Given the description of an element on the screen output the (x, y) to click on. 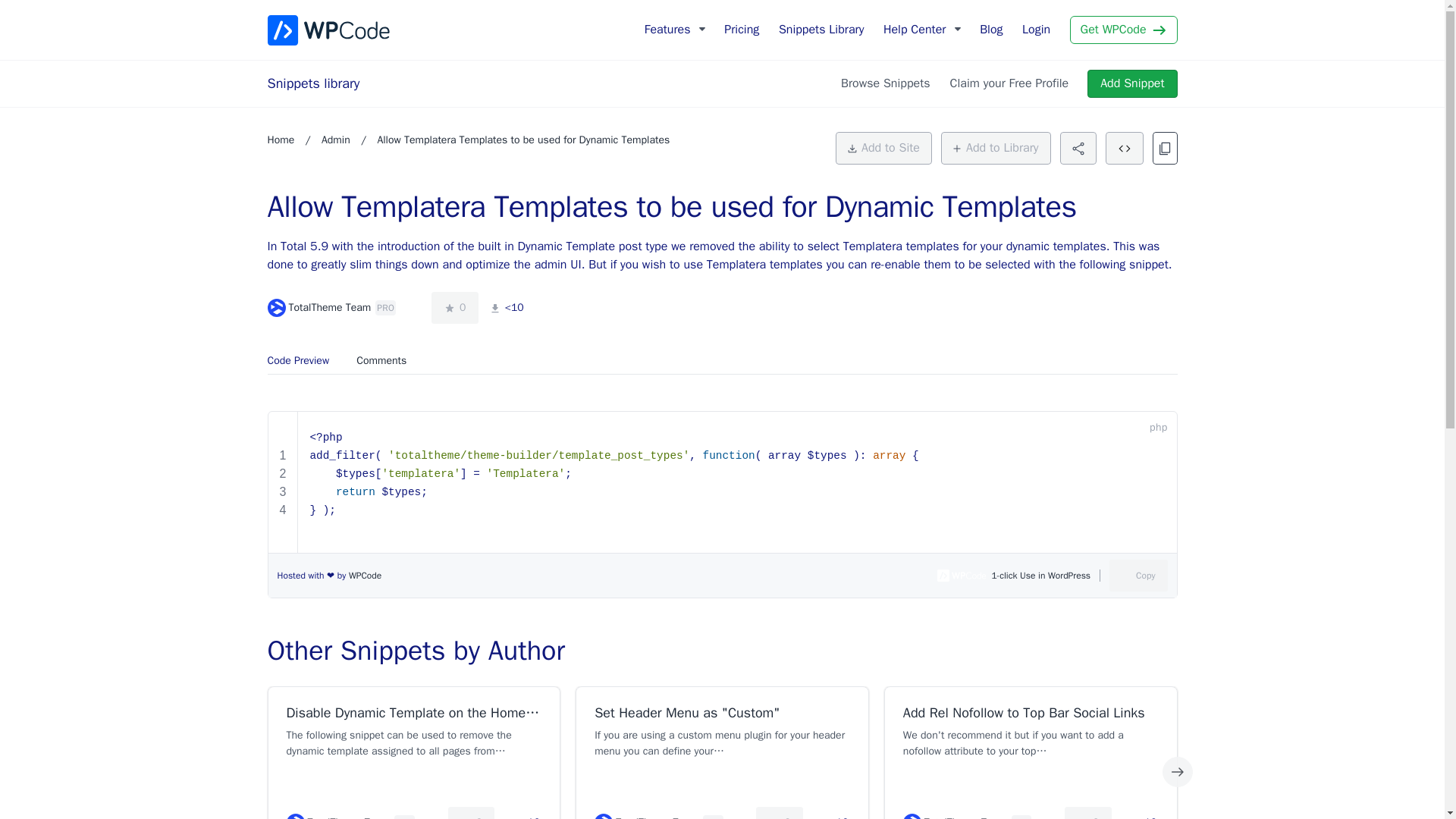
TotalTheme Team (318, 307)
Claim your Free Profile (1009, 83)
Add Snippet (1131, 83)
Login (1035, 29)
Set Header Menu as "Custom" (722, 713)
Get WPCode (1123, 29)
0 (453, 307)
Snippets library (312, 83)
Features (662, 29)
Home (280, 139)
Pricing (741, 29)
Add to Site (883, 147)
Snippets Library (820, 29)
Add to Library (995, 147)
